Given the description of an element on the screen output the (x, y) to click on. 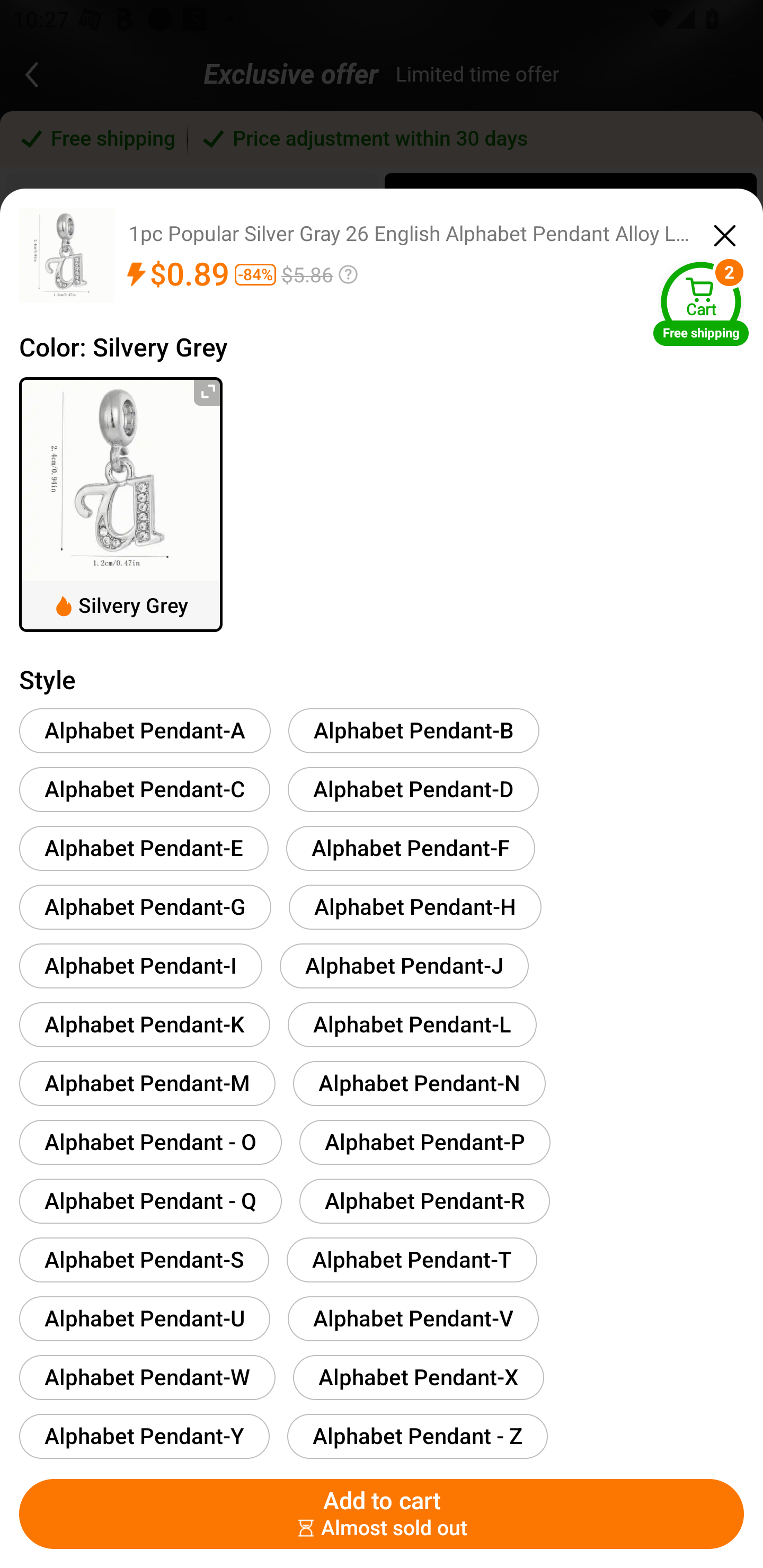
close (724, 232)
Cart Free shipping Cart (701, 303)
Silvery Grey ￼Silvery Grey (120, 504)
 Alphabet Pendant-A (144, 730)
 Alphabet Pendant-B (413, 730)
 Alphabet Pendant-C (144, 789)
 Alphabet Pendant-D (412, 789)
 Alphabet Pendant-E (143, 848)
 Alphabet Pendant-F (410, 848)
 Alphabet Pendant-G (145, 906)
 Alphabet Pendant-H (414, 906)
 Alphabet Pendant-I (140, 965)
 Alphabet Pendant-J (404, 965)
 Alphabet Pendant-K (144, 1024)
 Alphabet Pendant-L (411, 1024)
 Alphabet Pendant-M (147, 1083)
 Alphabet Pendant-N (418, 1083)
 Alphabet Pendant - O (150, 1142)
 Alphabet Pendant-P (424, 1142)
 Alphabet Pendant - Q (150, 1201)
 Alphabet Pendant-R (424, 1201)
 Alphabet Pendant-S (144, 1259)
 Alphabet Pendant-T (411, 1259)
 Alphabet Pendant-U (144, 1318)
 Alphabet Pendant-V (412, 1318)
 Alphabet Pendant-W (147, 1377)
 Alphabet Pendant-X (418, 1377)
 Alphabet Pendant-Y (144, 1436)
 Alphabet Pendant - Z (416, 1436)
Add to cart ￼￼Almost sold out (381, 1513)
